Given the description of an element on the screen output the (x, y) to click on. 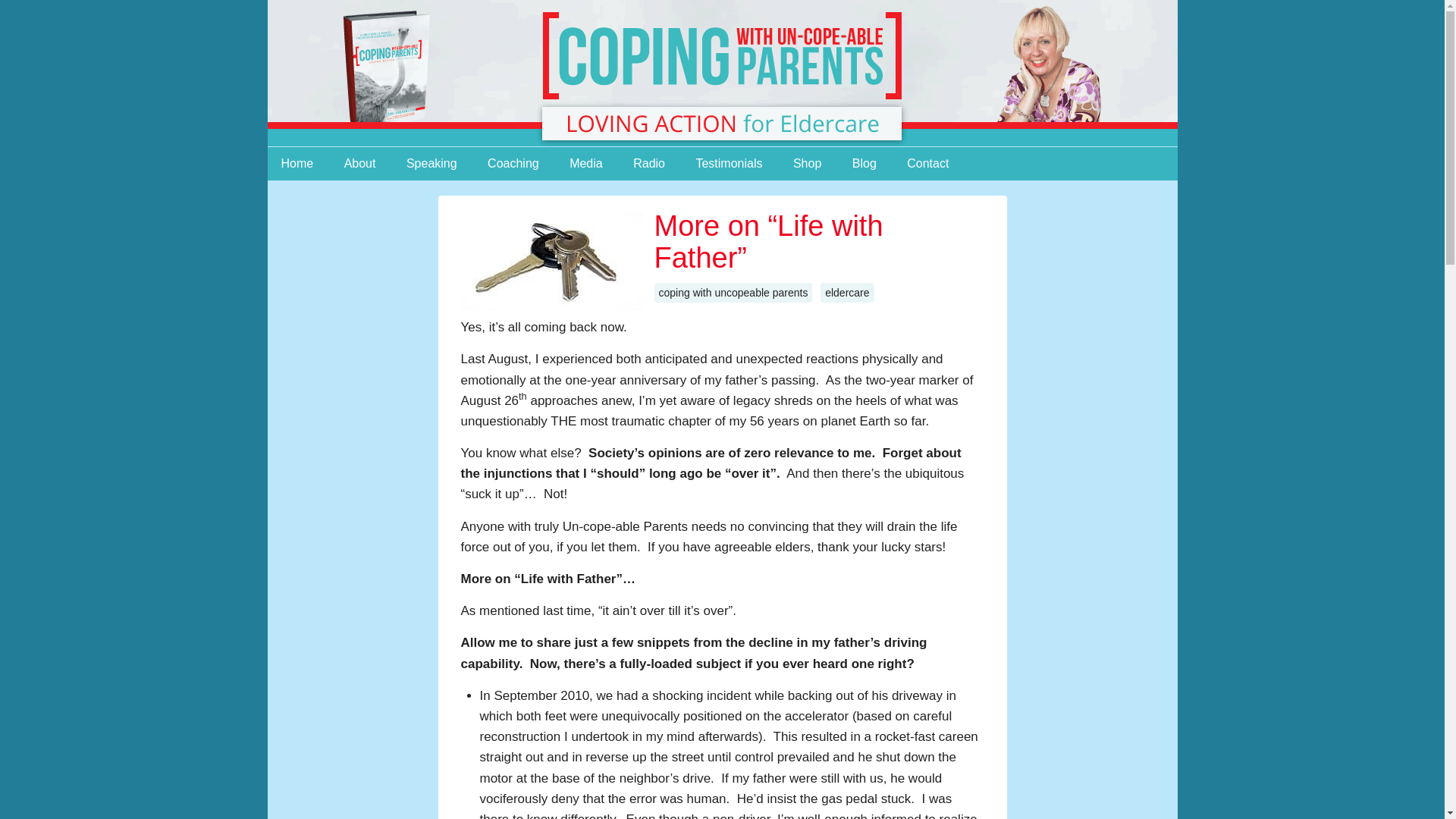
Speaking (431, 163)
Media (585, 163)
Coaching (513, 163)
Shop (806, 163)
Testimonials (728, 163)
Blog (863, 163)
Home (296, 163)
coping with uncopeable parents (732, 292)
Radio (649, 163)
About (360, 163)
eldercare (847, 292)
Contact (927, 163)
